Given the description of an element on the screen output the (x, y) to click on. 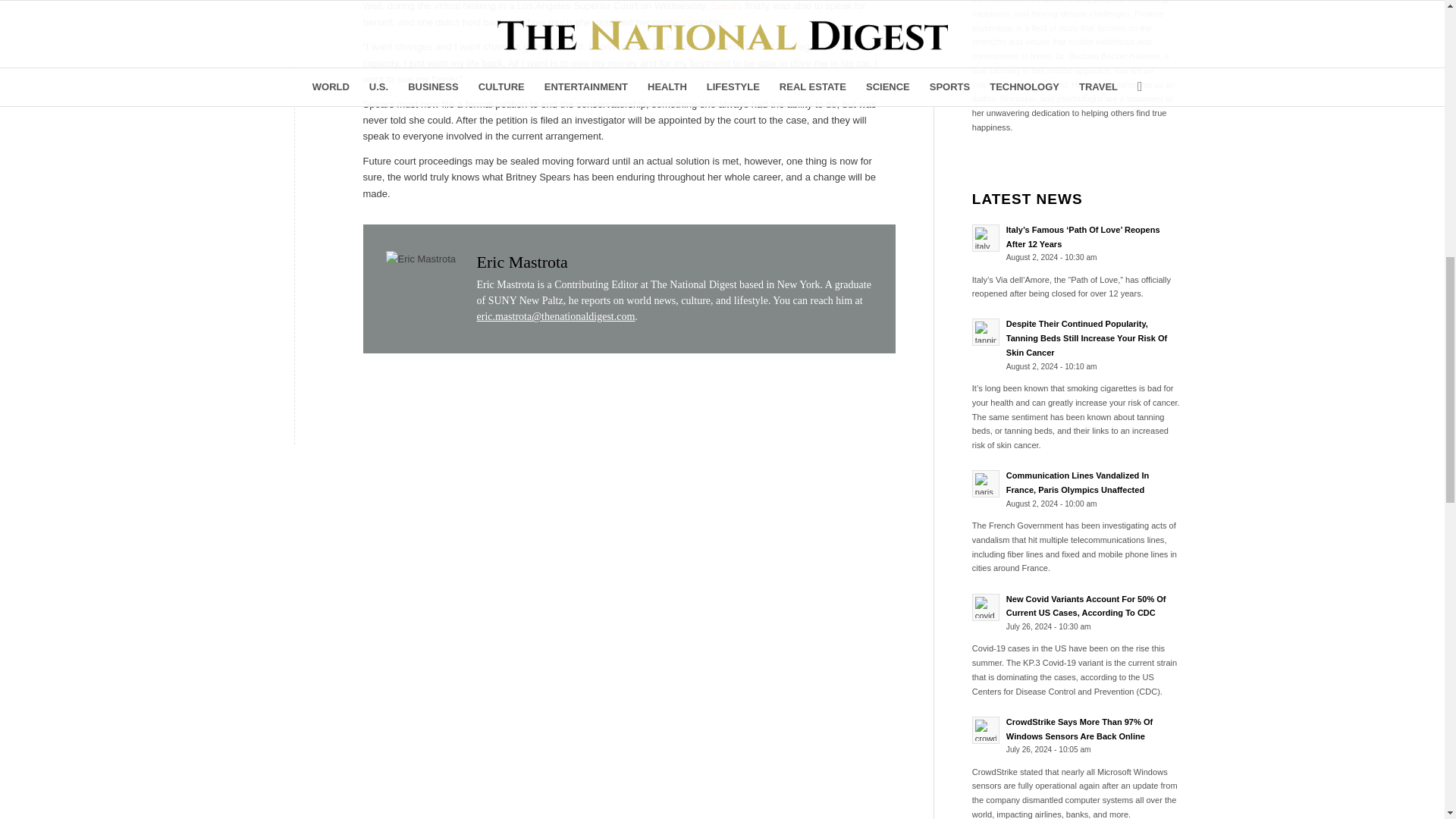
Spears (725, 5)
Eric Mastrota (521, 261)
